Given the description of an element on the screen output the (x, y) to click on. 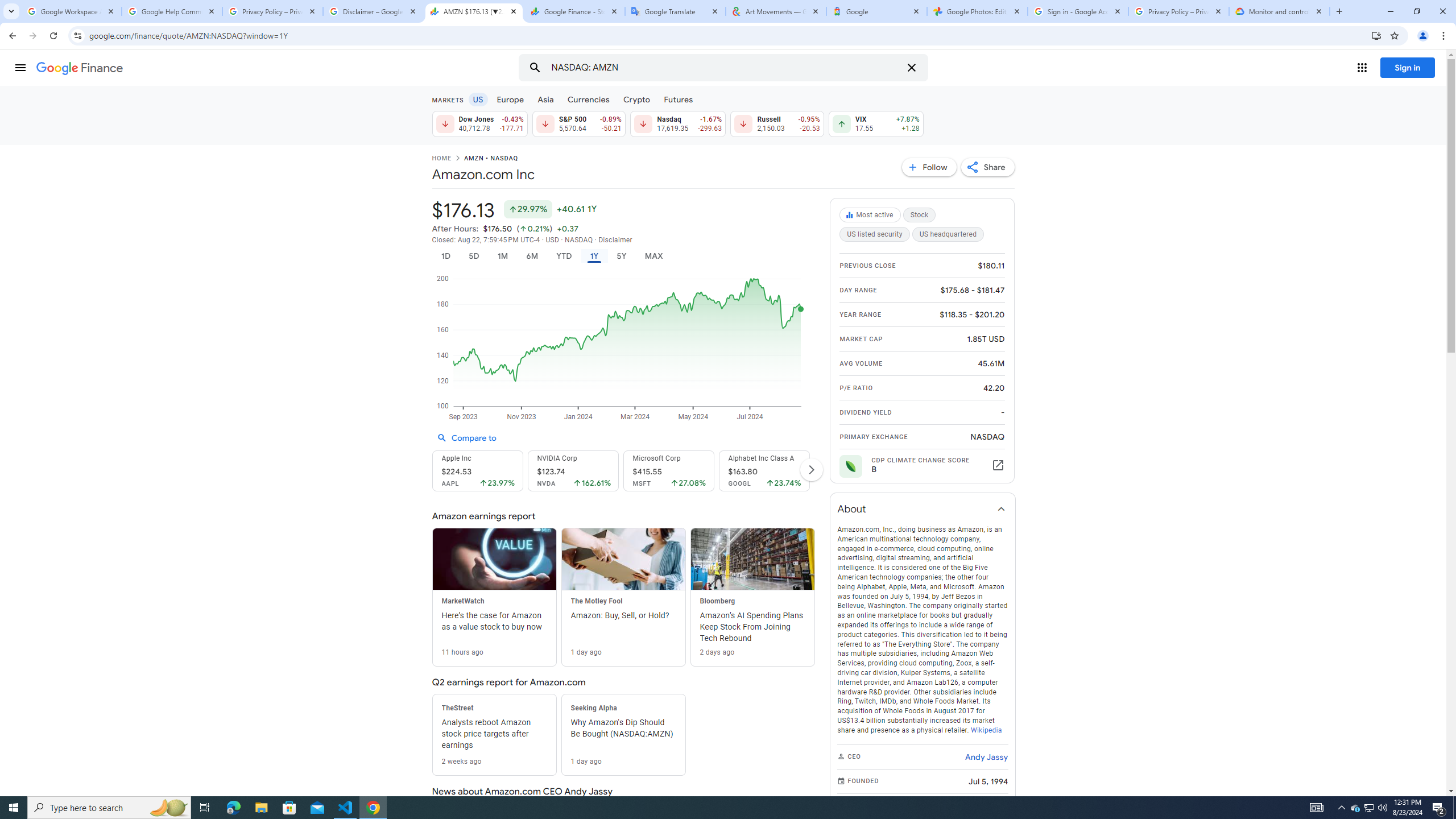
Russell 2,150.03 Down by 0.95% -20.53 (777, 123)
VIX 17.55 Up by 7.87% +1.28 (875, 123)
Crypto (636, 99)
Currencies (588, 99)
Google (876, 11)
5D (473, 255)
Google Translate (675, 11)
Install Google Finance (1376, 35)
Asia (545, 99)
